Given the description of an element on the screen output the (x, y) to click on. 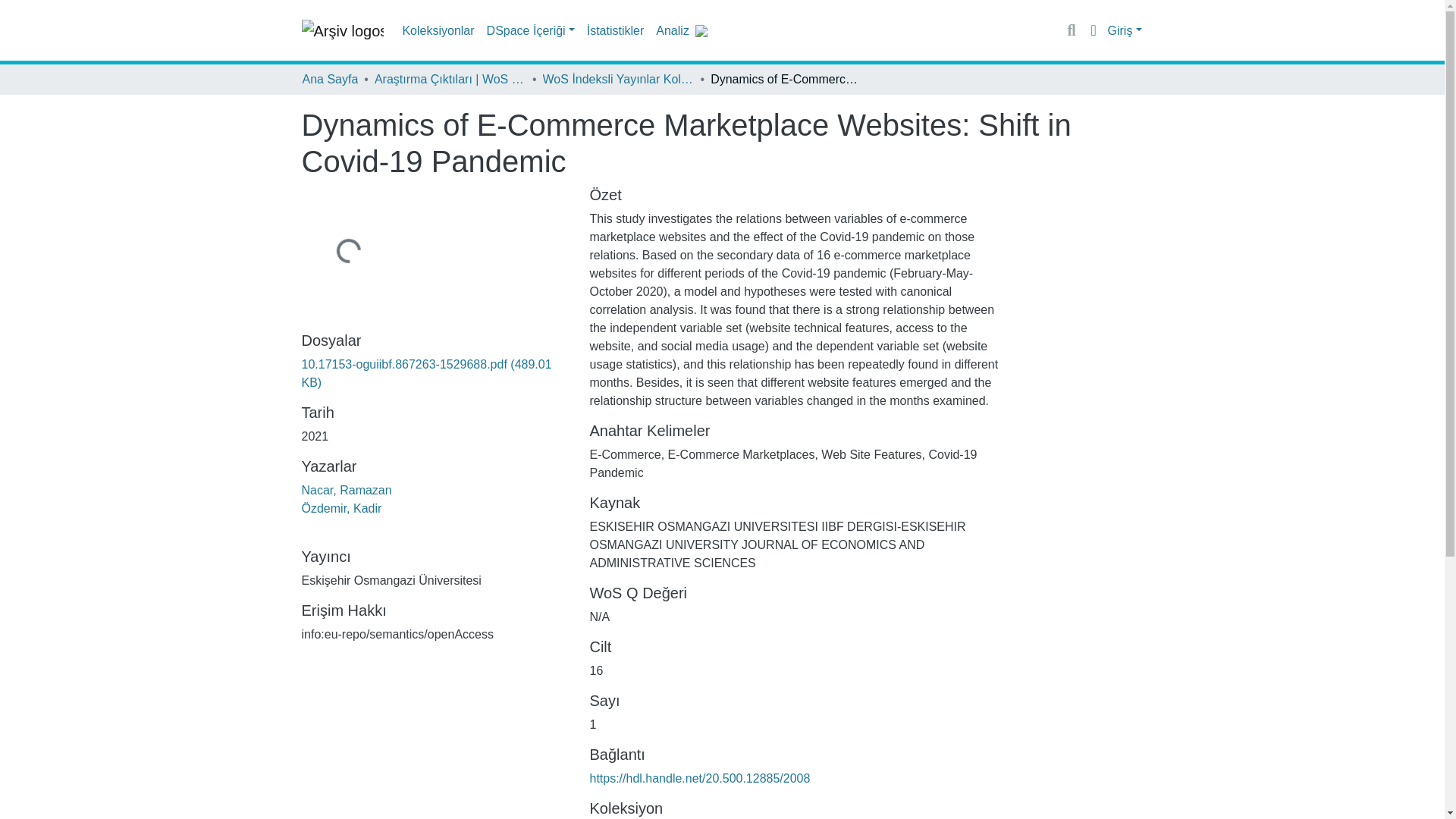
Koleksiyonlar (438, 30)
Ara (1071, 30)
Analiz (672, 30)
Nacar, Ramazan (346, 490)
Ana Sayfa (329, 79)
Koleksiyonlar (438, 30)
